Given the description of an element on the screen output the (x, y) to click on. 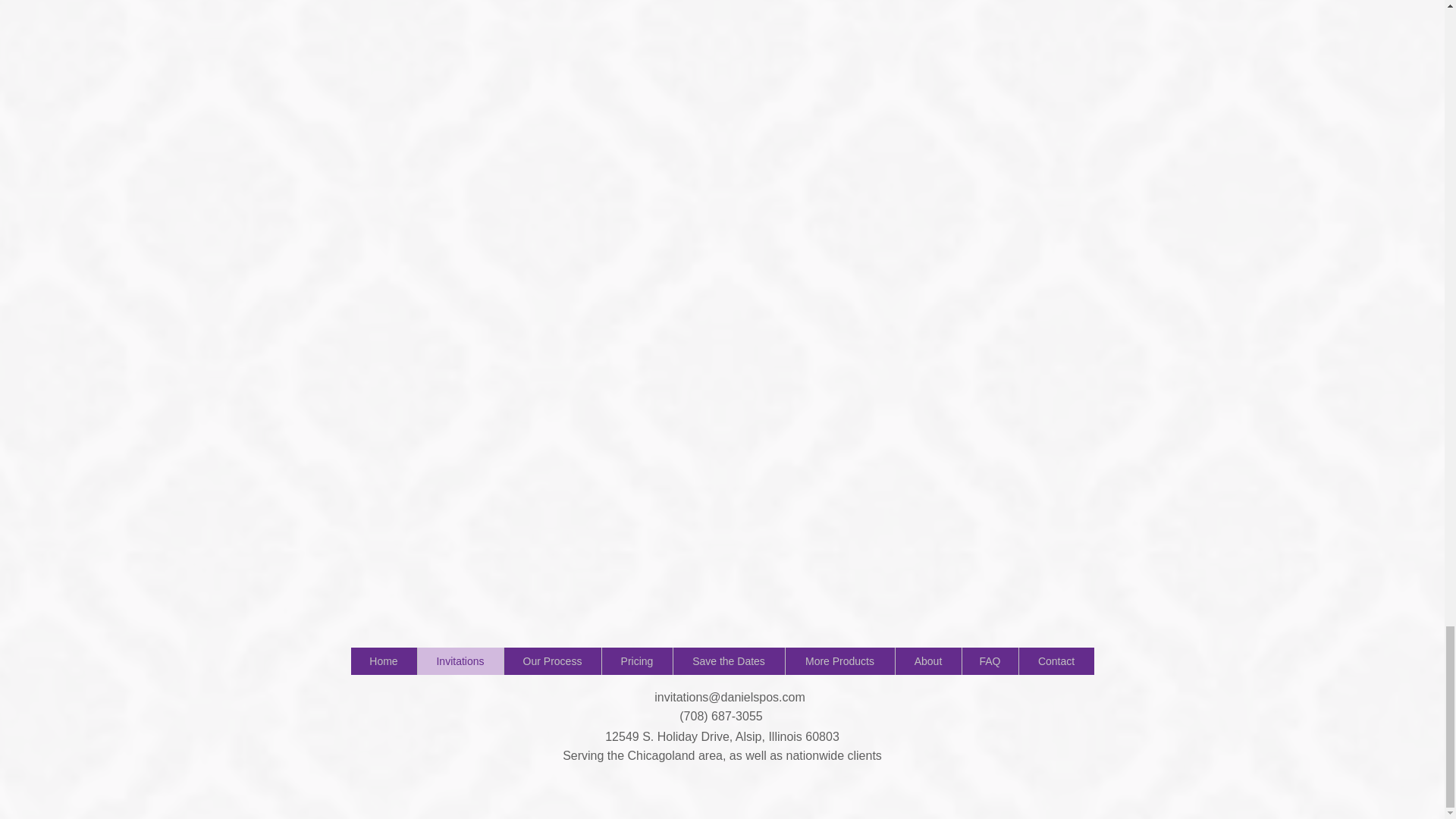
FAQ (988, 660)
About (927, 660)
Pricing (635, 660)
Contact (1055, 660)
Save the Dates (727, 660)
Our Process (552, 660)
Home (383, 660)
Invitations (459, 660)
